Given the description of an element on the screen output the (x, y) to click on. 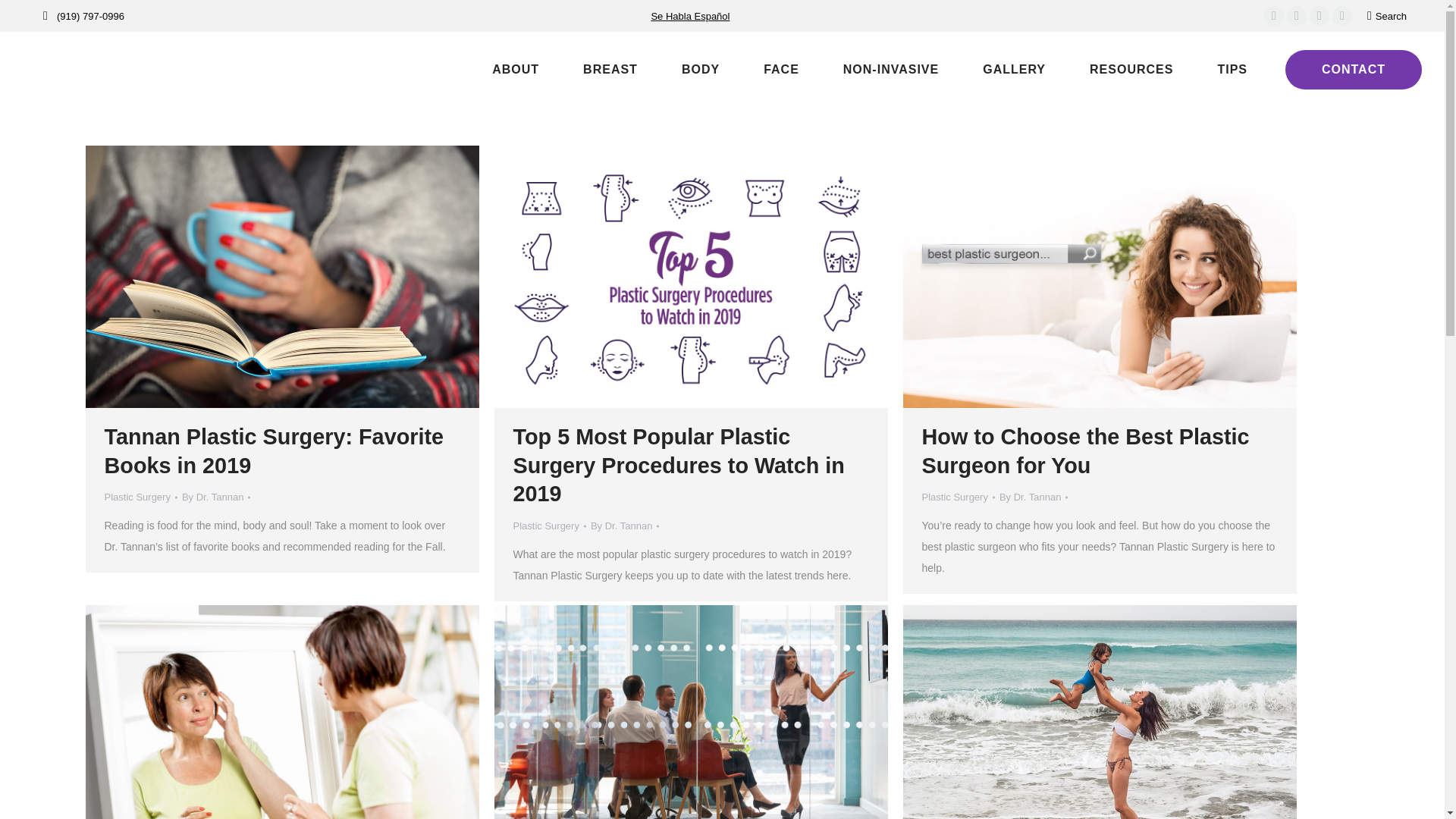
Go! (24, 16)
Search (1386, 16)
ABOUT (501, 69)
CONTACT (1353, 69)
BODY (685, 69)
FACE (766, 69)
NON-INVASIVE (876, 69)
recommended-reading-tannan-plastic-surgery (281, 276)
Instagram page opens in new window (1296, 15)
YouTube page opens in new window (1318, 15)
RESOURCES (1116, 69)
GALLERY (999, 69)
TikTok page opens in new window (1342, 15)
YouTube page opens in new window (1318, 15)
BREAST (596, 69)
